Given the description of an element on the screen output the (x, y) to click on. 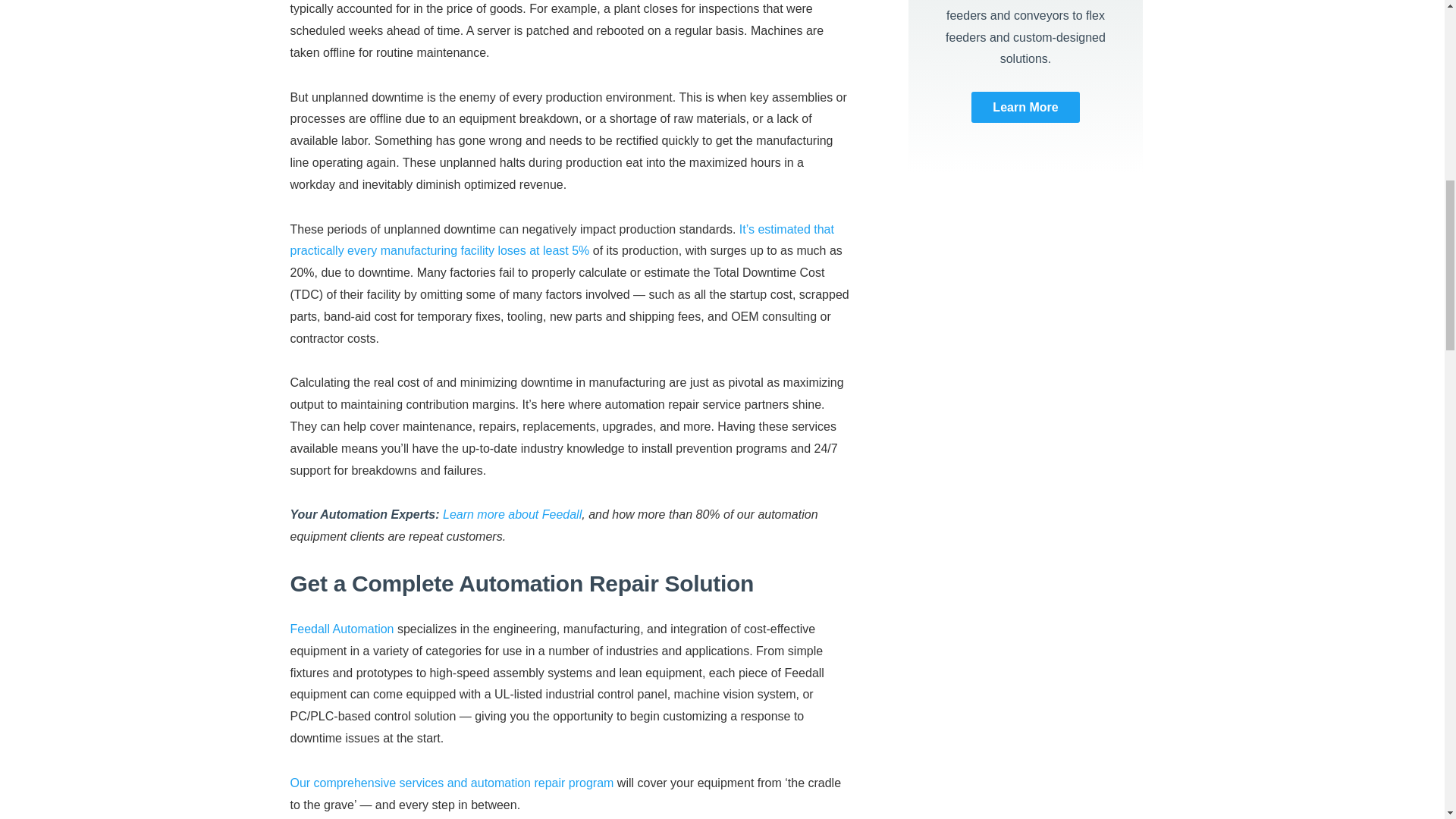
Our comprehensive services and automation repair program (450, 782)
Learn more about Feedall (511, 513)
Feedall Automation (341, 628)
